Given the description of an element on the screen output the (x, y) to click on. 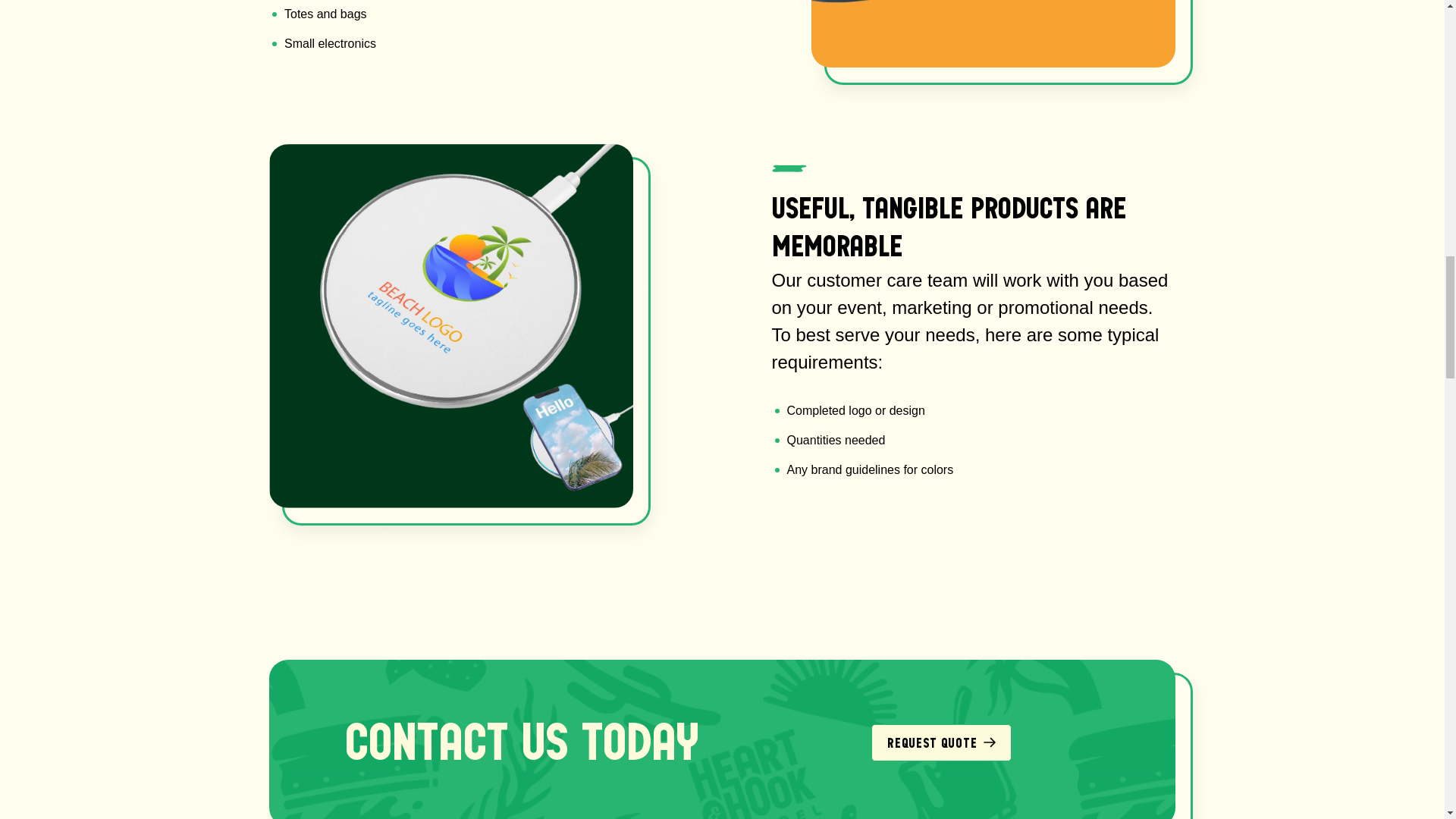
REQUEST QUOTE (940, 742)
